Given the description of an element on the screen output the (x, y) to click on. 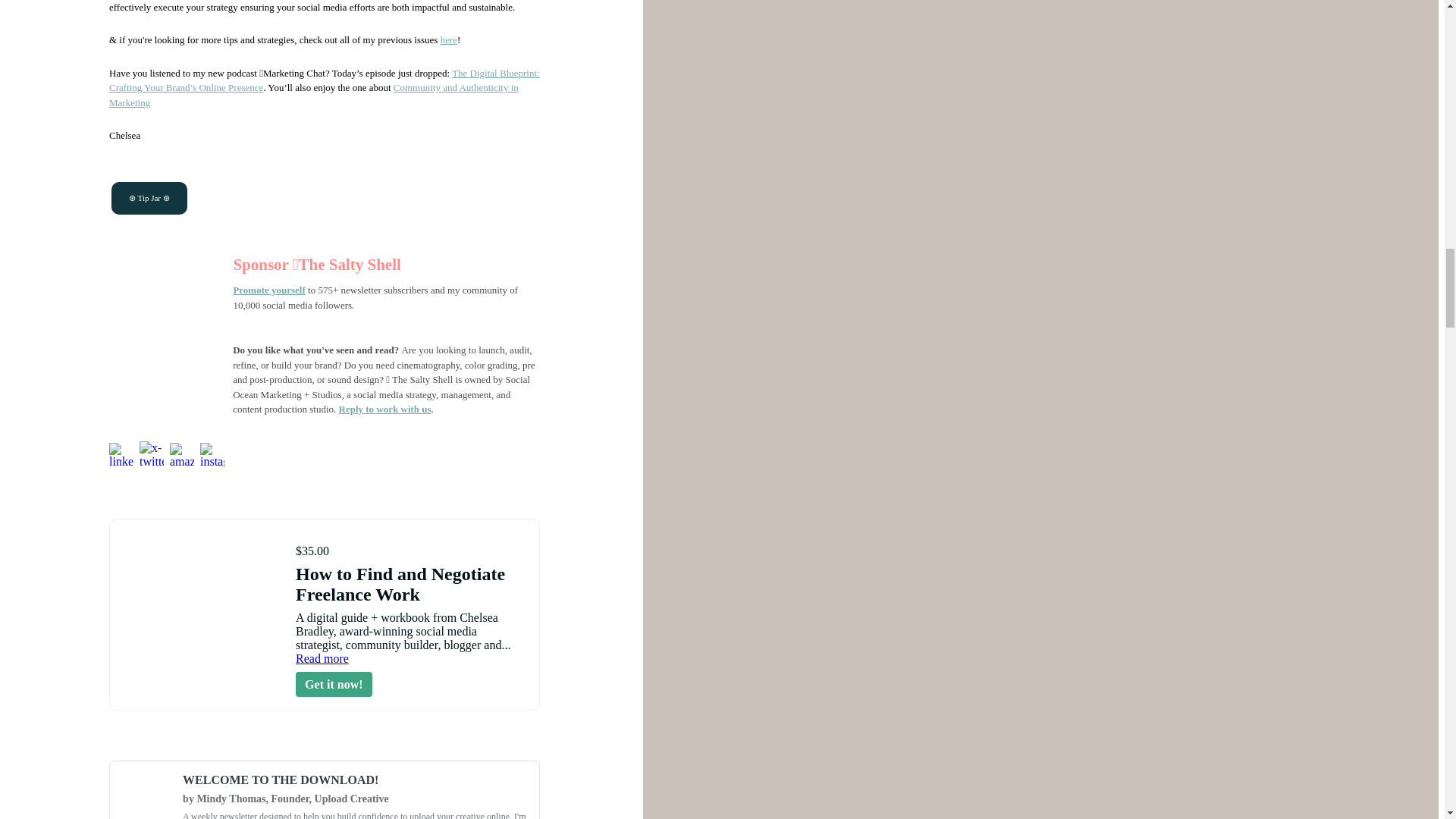
Read more (322, 658)
Reply to work with us (384, 408)
Community and Authenticity in Marketing (313, 94)
Get it now! (333, 683)
here (449, 39)
Promote yourself (268, 289)
